Given the description of an element on the screen output the (x, y) to click on. 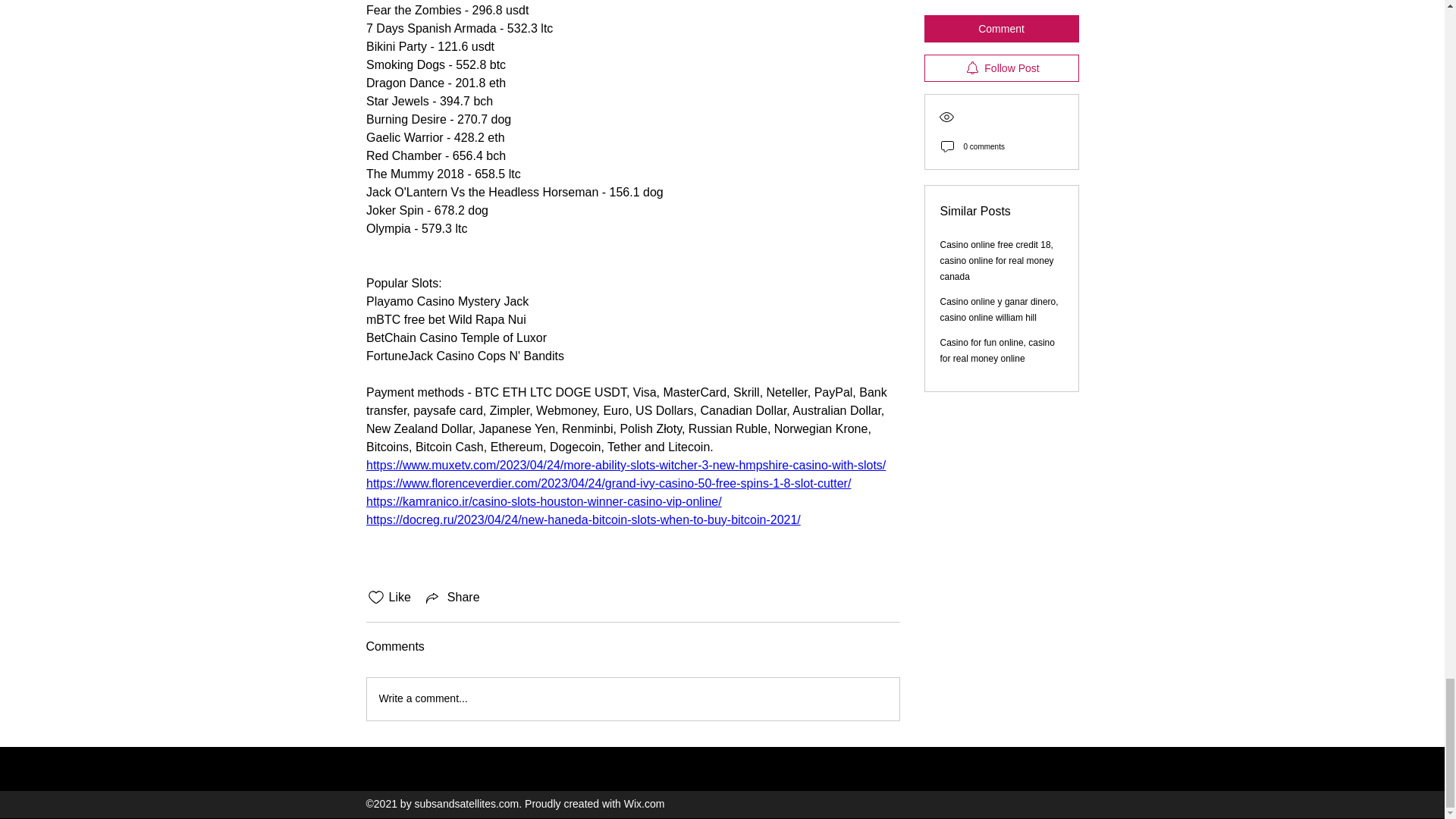
Share (451, 597)
Write a comment... (632, 699)
